Given the description of an element on the screen output the (x, y) to click on. 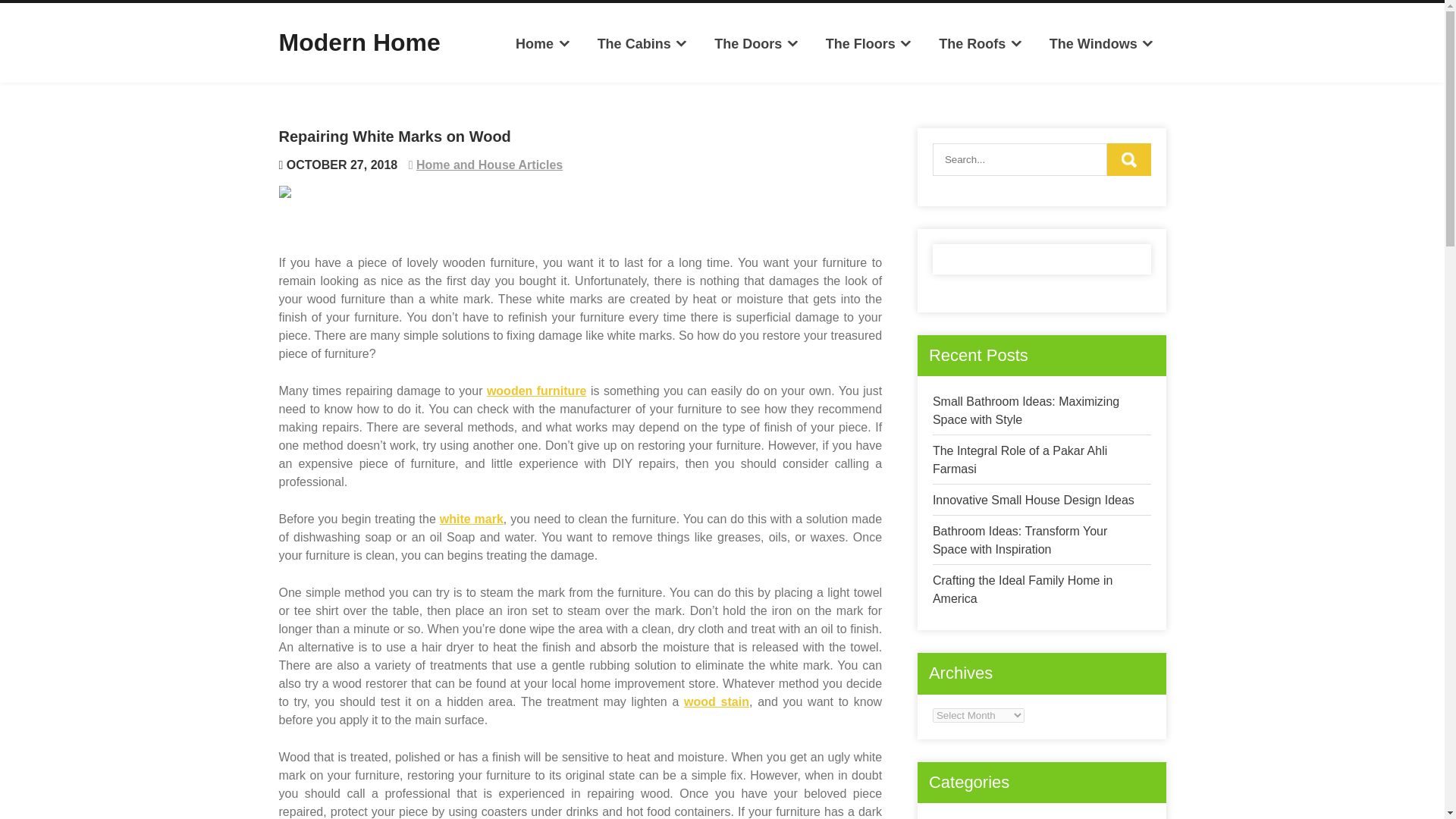
Search (1128, 159)
Search (1128, 159)
Modern Home (360, 42)
Home (542, 44)
The Windows (1102, 44)
The Cabins (641, 44)
white mark (471, 518)
Home and House Articles (489, 164)
The Floors (868, 44)
wooden furniture (536, 390)
